Given the description of an element on the screen output the (x, y) to click on. 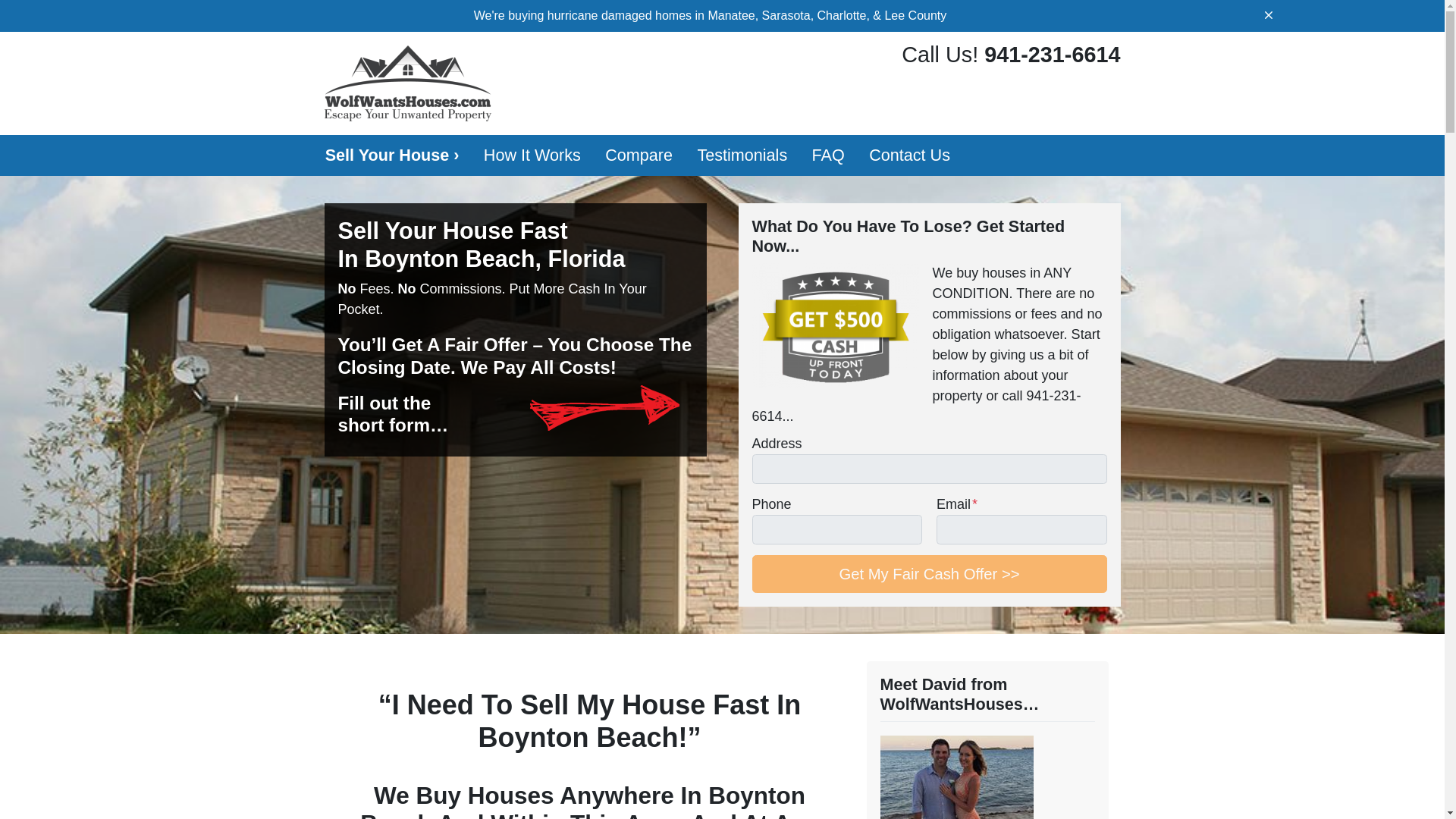
Testimonials (741, 155)
Contact Us (909, 155)
How It Works (531, 155)
FAQ (828, 155)
Testimonials (741, 155)
FAQ (828, 155)
Arrow Right (603, 407)
Contact Us (909, 155)
Compare (638, 155)
Compare (638, 155)
How It Works (531, 155)
